Given the description of an element on the screen output the (x, y) to click on. 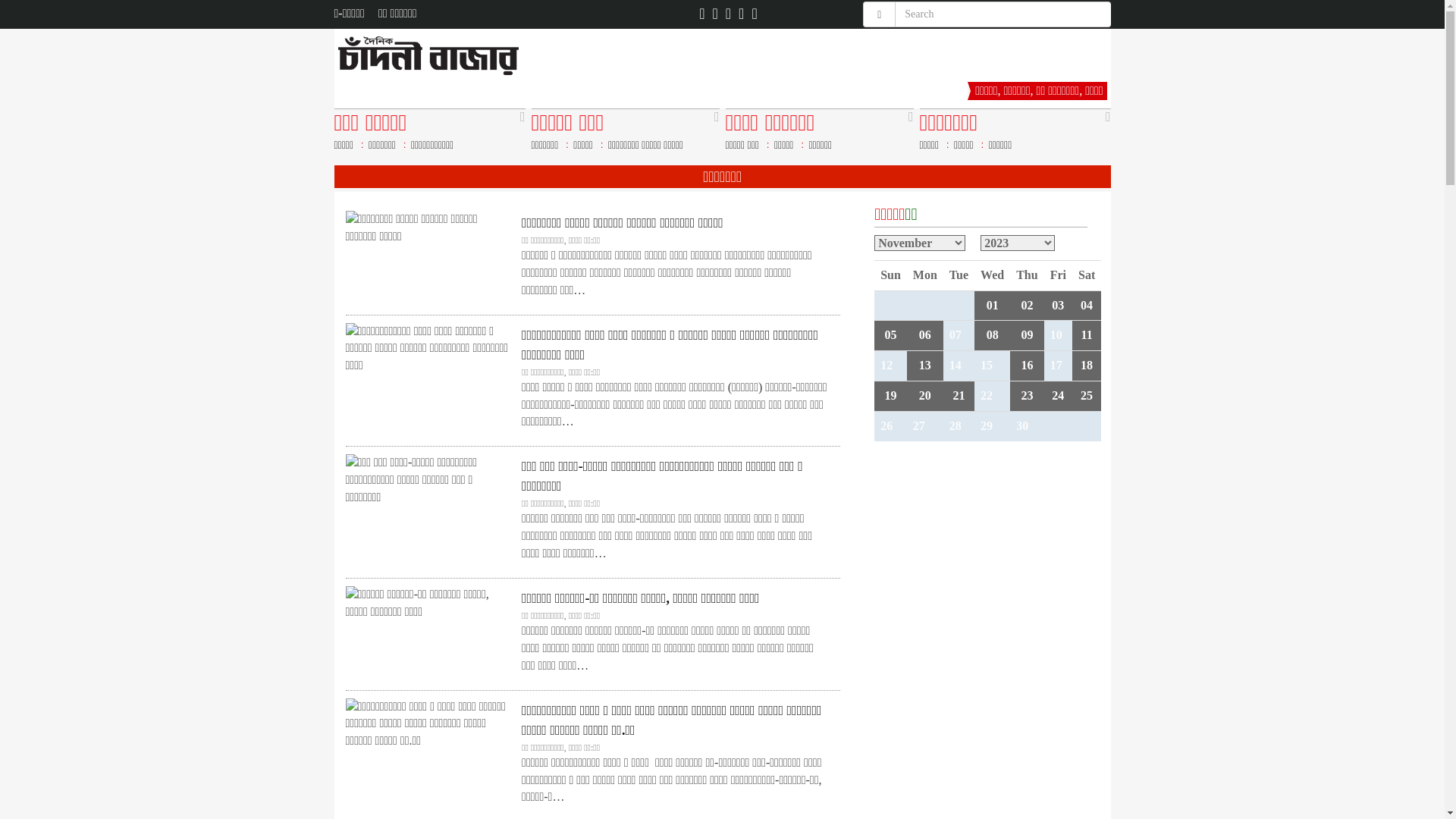
02 Element type: text (1026, 304)
03 Element type: text (1057, 304)
09 Element type: text (1026, 334)
20 Element type: text (925, 395)
19 Element type: text (890, 395)
21 Element type: text (958, 395)
05 Element type: text (890, 334)
11 Element type: text (1086, 334)
16 Element type: text (1026, 364)
18 Element type: text (1086, 364)
24 Element type: text (1057, 395)
04 Element type: text (1086, 304)
25 Element type: text (1086, 395)
13 Element type: text (925, 364)
01 Element type: text (992, 304)
06 Element type: text (925, 334)
23 Element type: text (1026, 395)
08 Element type: text (992, 334)
